Given the description of an element on the screen output the (x, y) to click on. 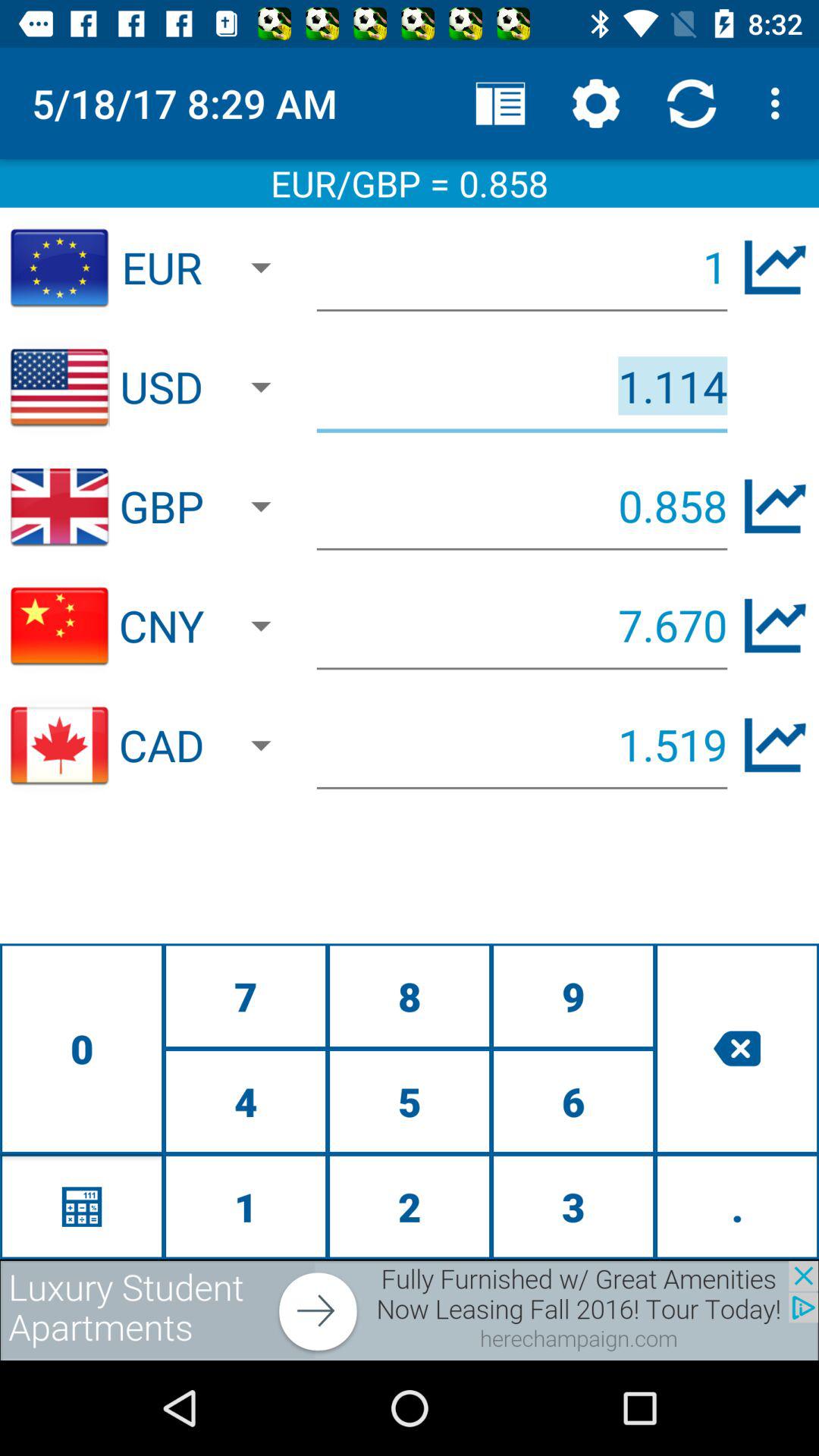
stock market (775, 267)
